Given the description of an element on the screen output the (x, y) to click on. 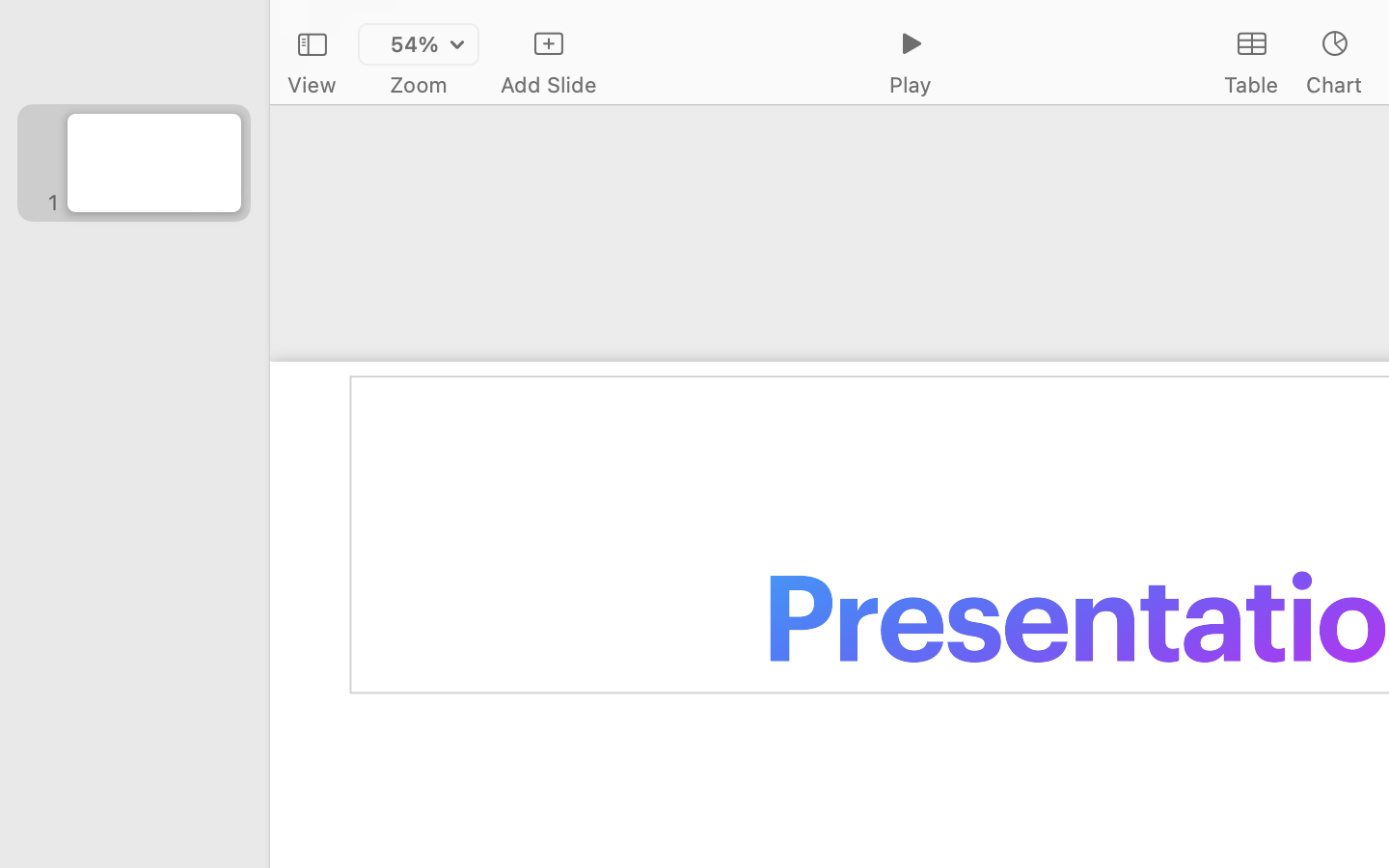
Zoom Element type: AXStaticText (418, 84)
View Element type: AXStaticText (311, 84)
